Given the description of an element on the screen output the (x, y) to click on. 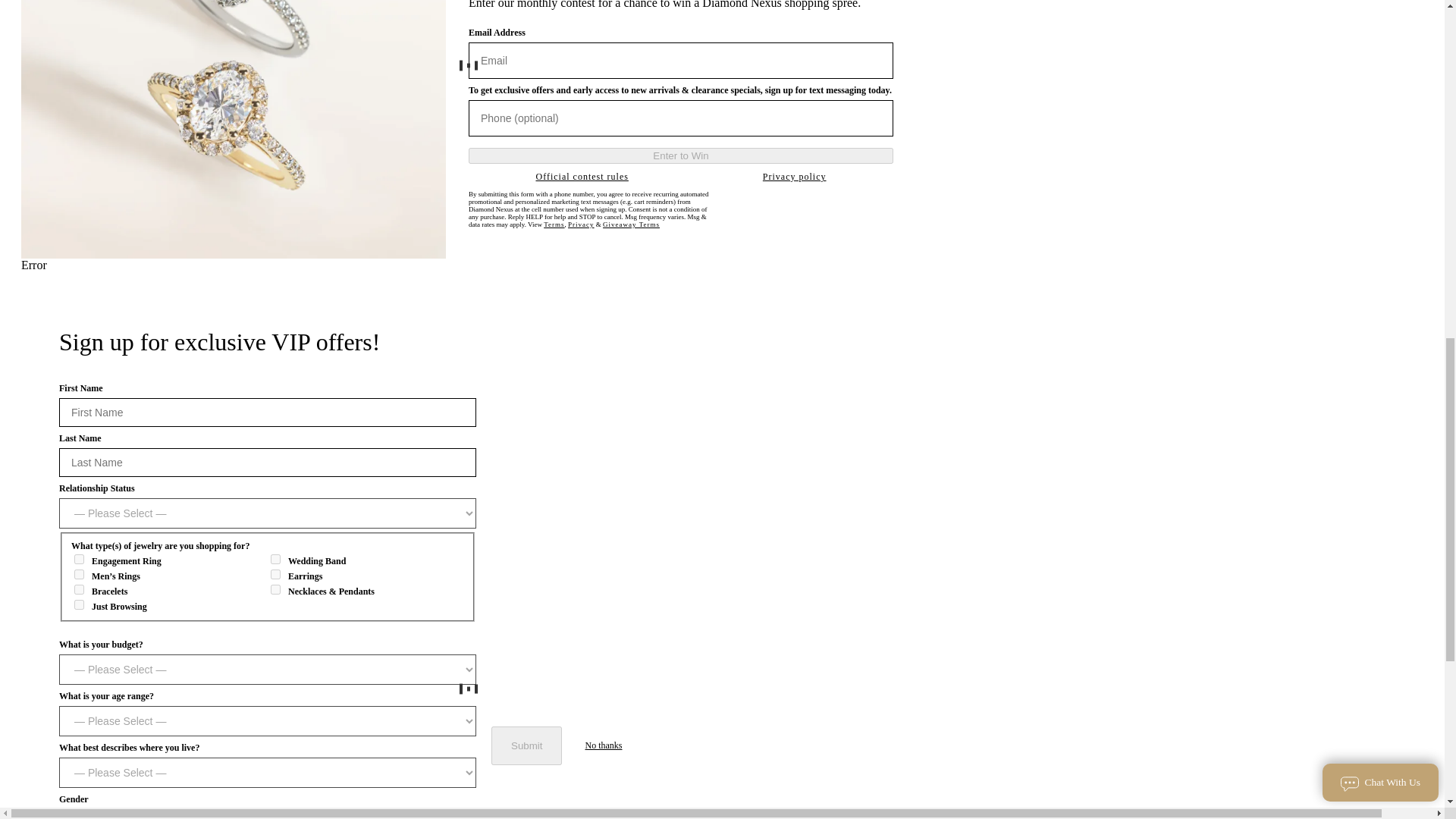
Browsing (79, 604)
WeddingBand (275, 559)
EngagementRing (79, 559)
Necklaces (275, 589)
MensRings (79, 574)
Bracelets (79, 589)
Earrings (275, 574)
Submit (527, 745)
